Given the description of an element on the screen output the (x, y) to click on. 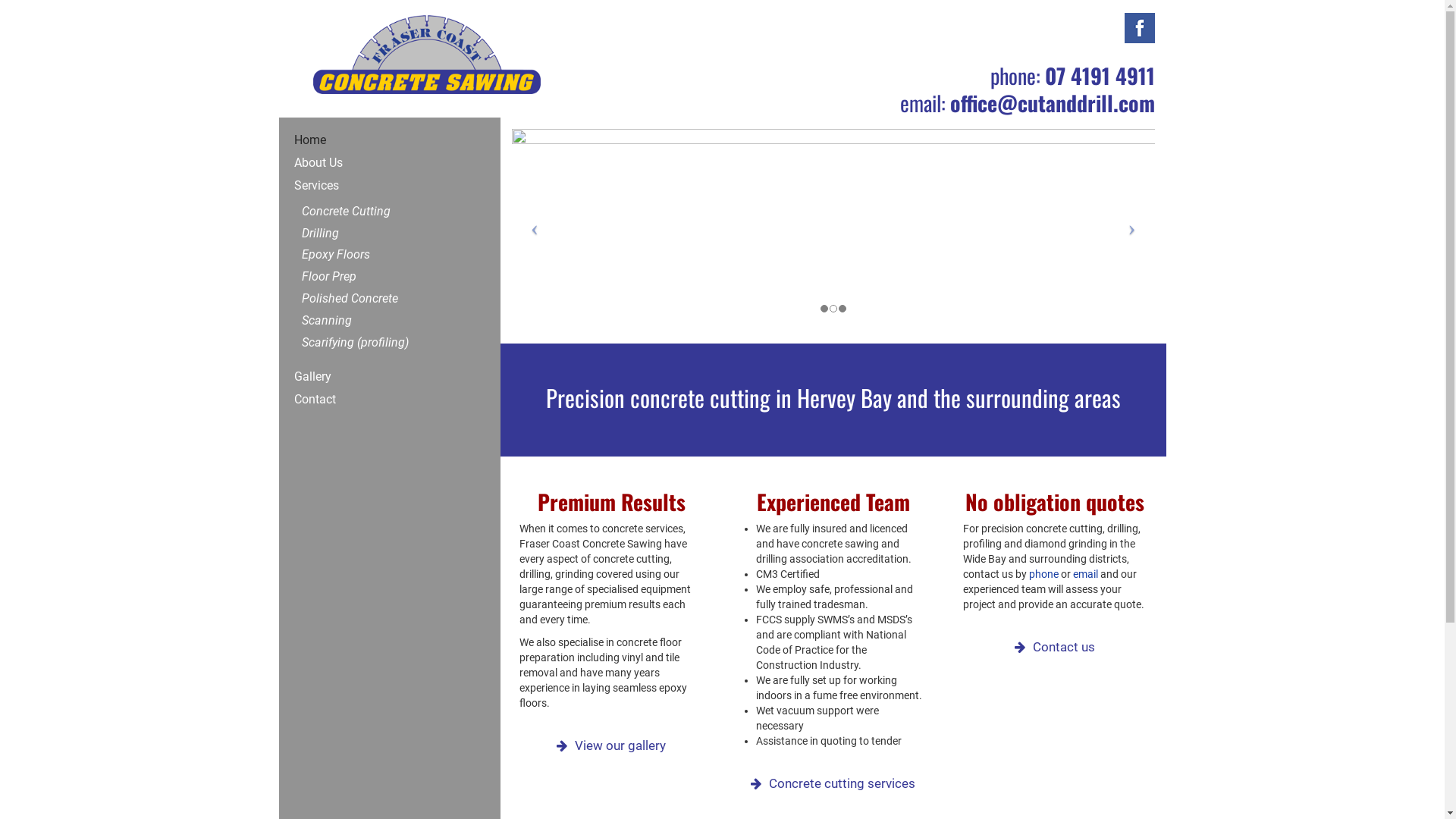
Home_slider3 Element type: hover (832, 230)
Drilling Element type: text (356, 233)
Floor Prep Element type: text (356, 277)
Contact us Element type: text (1063, 646)
phone Element type: text (1043, 573)
Contact Element type: text (356, 399)
Scarifying (profiling) Element type: text (356, 343)
Home Element type: text (356, 139)
Scanning Element type: text (356, 321)
Gallery Element type: text (356, 376)
Polished Concrete Element type: text (356, 299)
Services Element type: text (356, 185)
About Us Element type: text (356, 162)
email Element type: text (1085, 573)
Fraser Coast Concrete Sawing Element type: hover (414, 45)
Concrete Cutting Element type: text (356, 211)
Concrete cutting services Element type: text (841, 782)
office@cutanddrill.com Element type: text (1051, 102)
View our gallery Element type: text (619, 745)
Epoxy Floors Element type: text (356, 255)
